Given the description of an element on the screen output the (x, y) to click on. 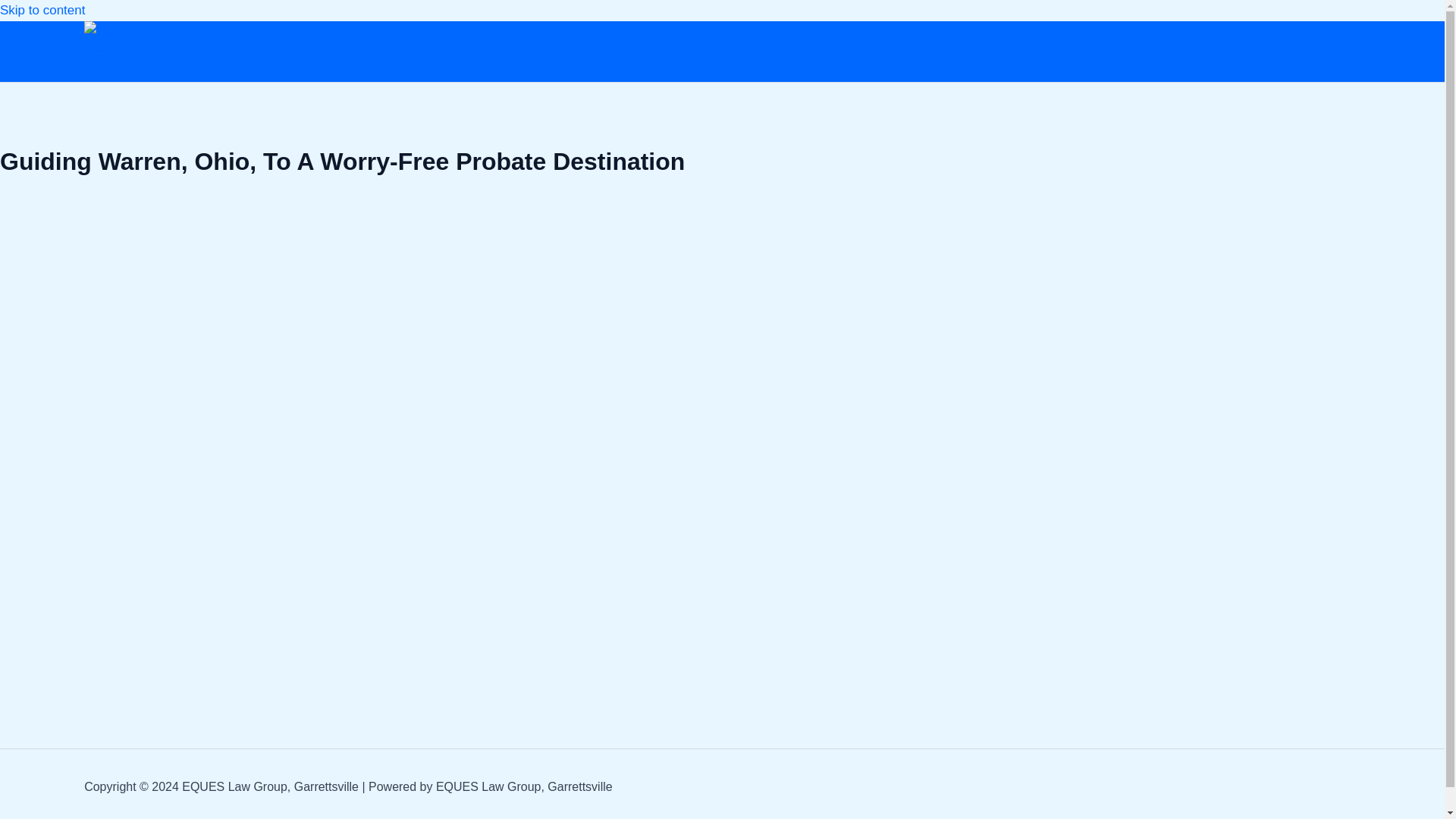
Skip to content (42, 10)
Skip to content (42, 10)
